Given the description of an element on the screen output the (x, y) to click on. 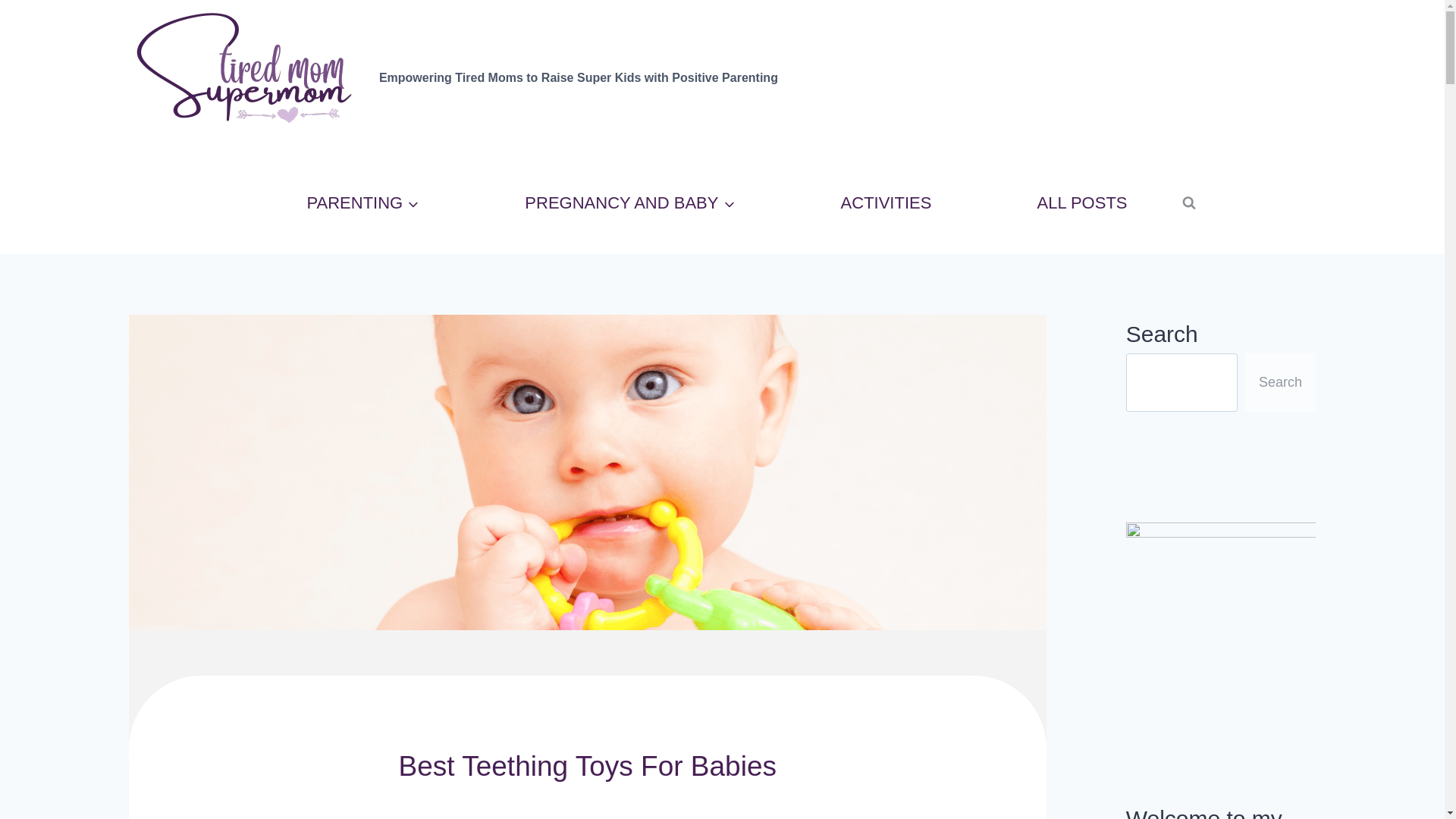
ALL POSTS (1081, 203)
PARENTING (363, 203)
PREGNANCY AND BABY (630, 203)
ACTIVITIES (885, 203)
